Given the description of an element on the screen output the (x, y) to click on. 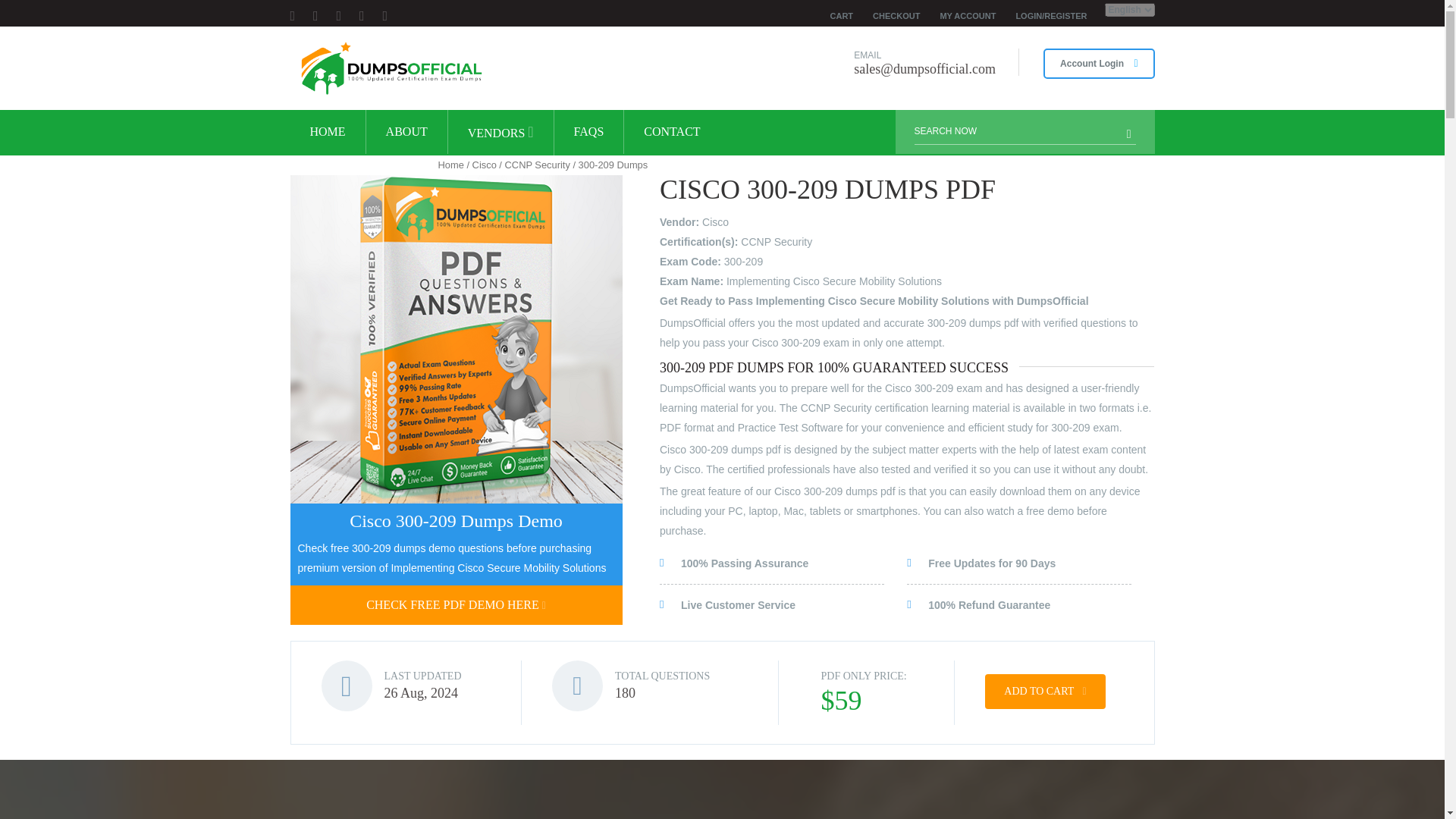
CHECKOUT (896, 15)
CCNP Security (537, 164)
CART (841, 15)
FAQS (589, 131)
Dumps Official (389, 68)
Home (451, 164)
ABOUT (406, 131)
ADD TO CART (1045, 691)
VENDORS (500, 132)
Cisco (483, 164)
